Given the description of an element on the screen output the (x, y) to click on. 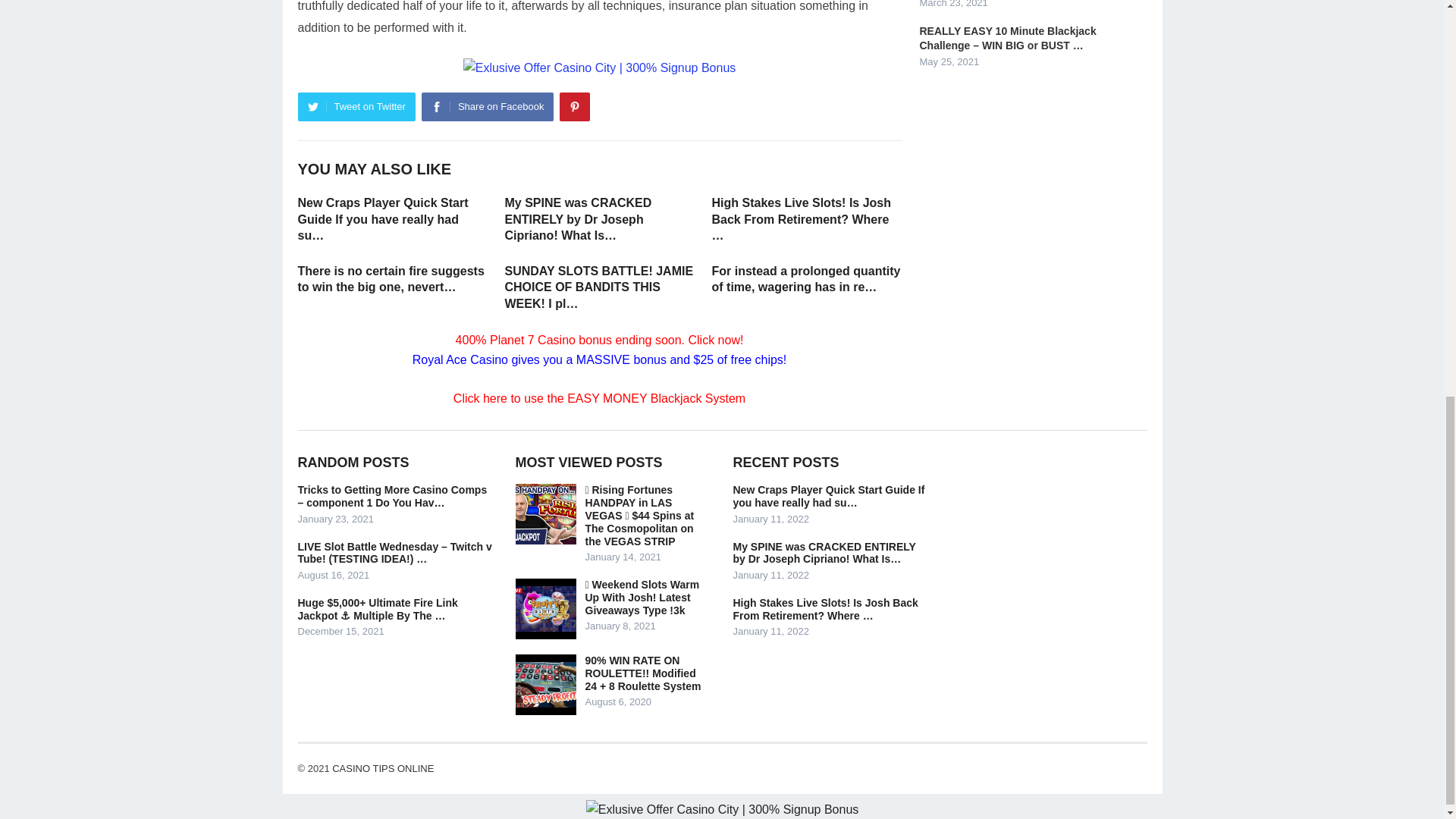
Tweet on Twitter (355, 106)
Click here to use the EASY MONEY Blackjack System (598, 398)
Pinterest (574, 106)
Share on Facebook (487, 106)
